Given the description of an element on the screen output the (x, y) to click on. 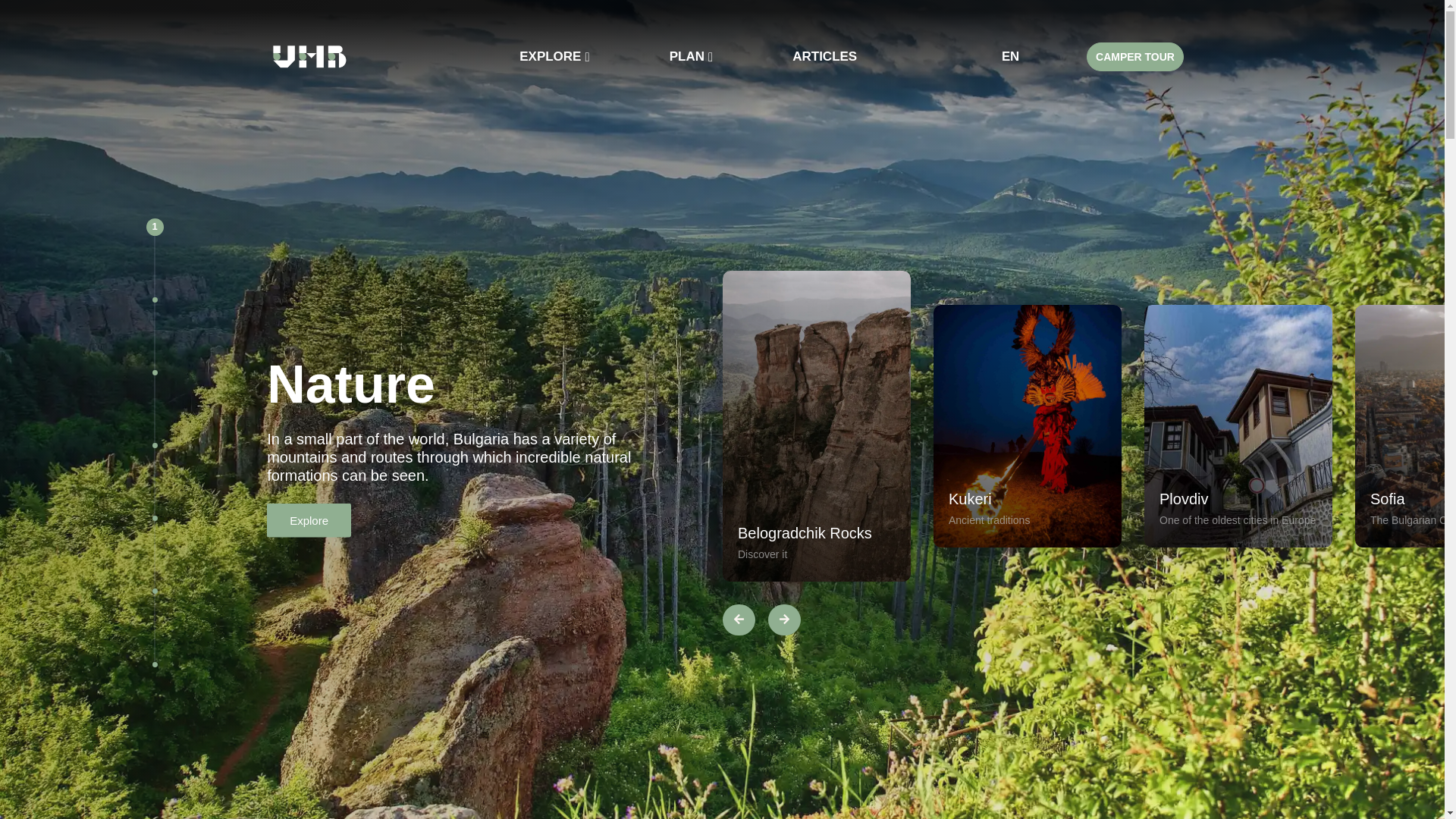
EXPLORE (555, 56)
ARTICLES (824, 56)
PLAN (693, 56)
